Given the description of an element on the screen output the (x, y) to click on. 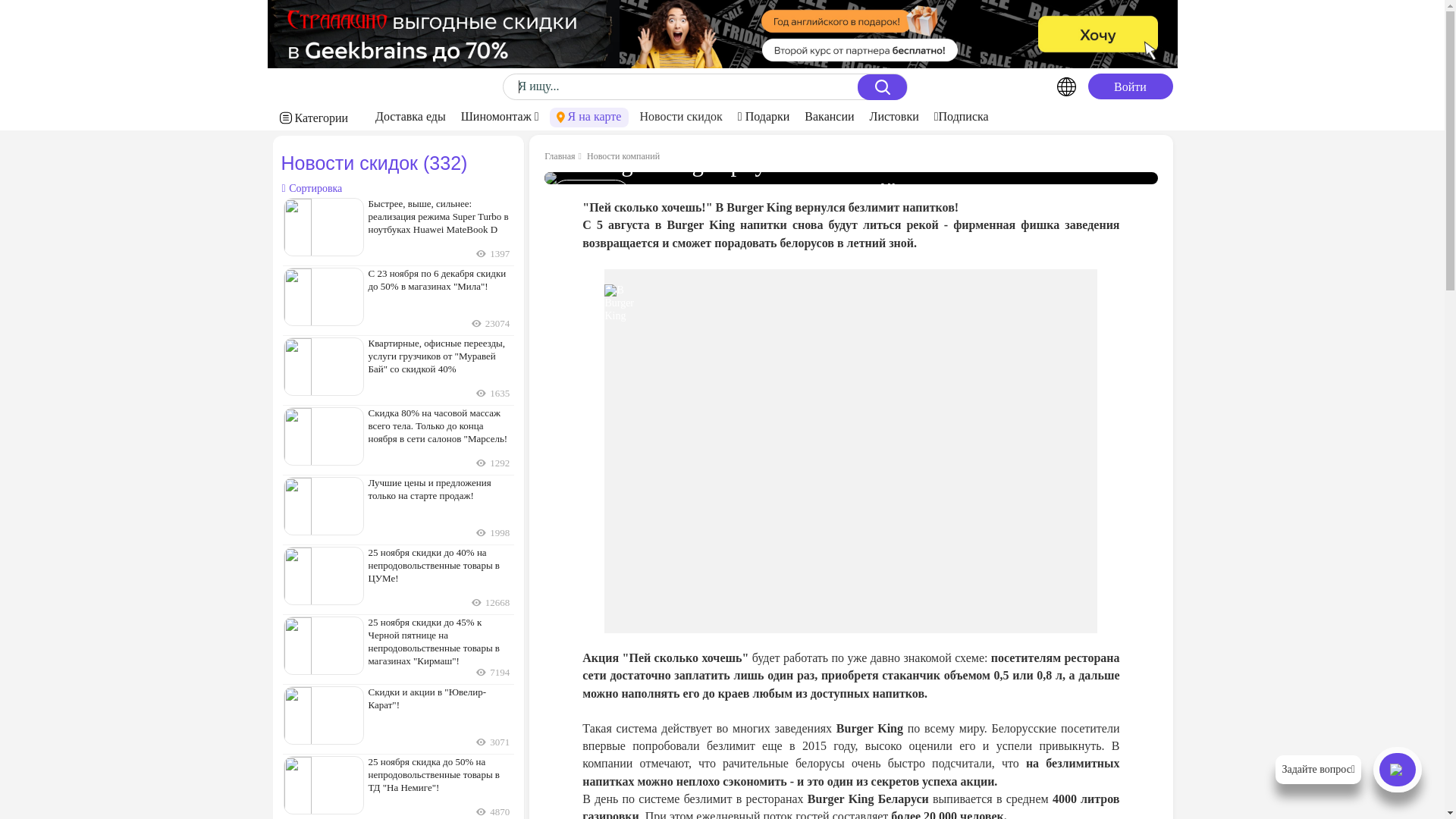
  Element type: text (1036, 86)
